Given the description of an element on the screen output the (x, y) to click on. 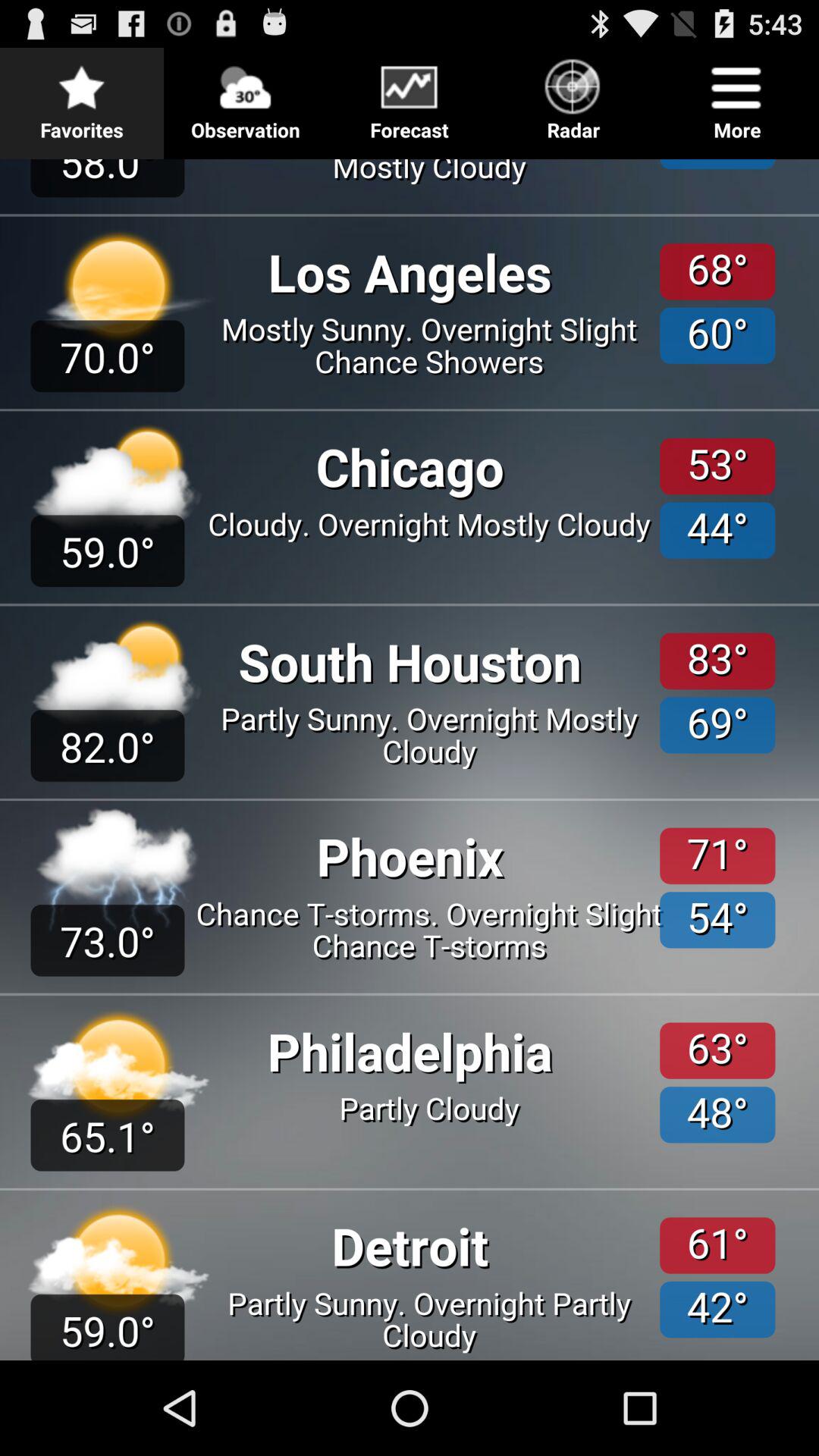
launch the observation button (245, 95)
